Given the description of an element on the screen output the (x, y) to click on. 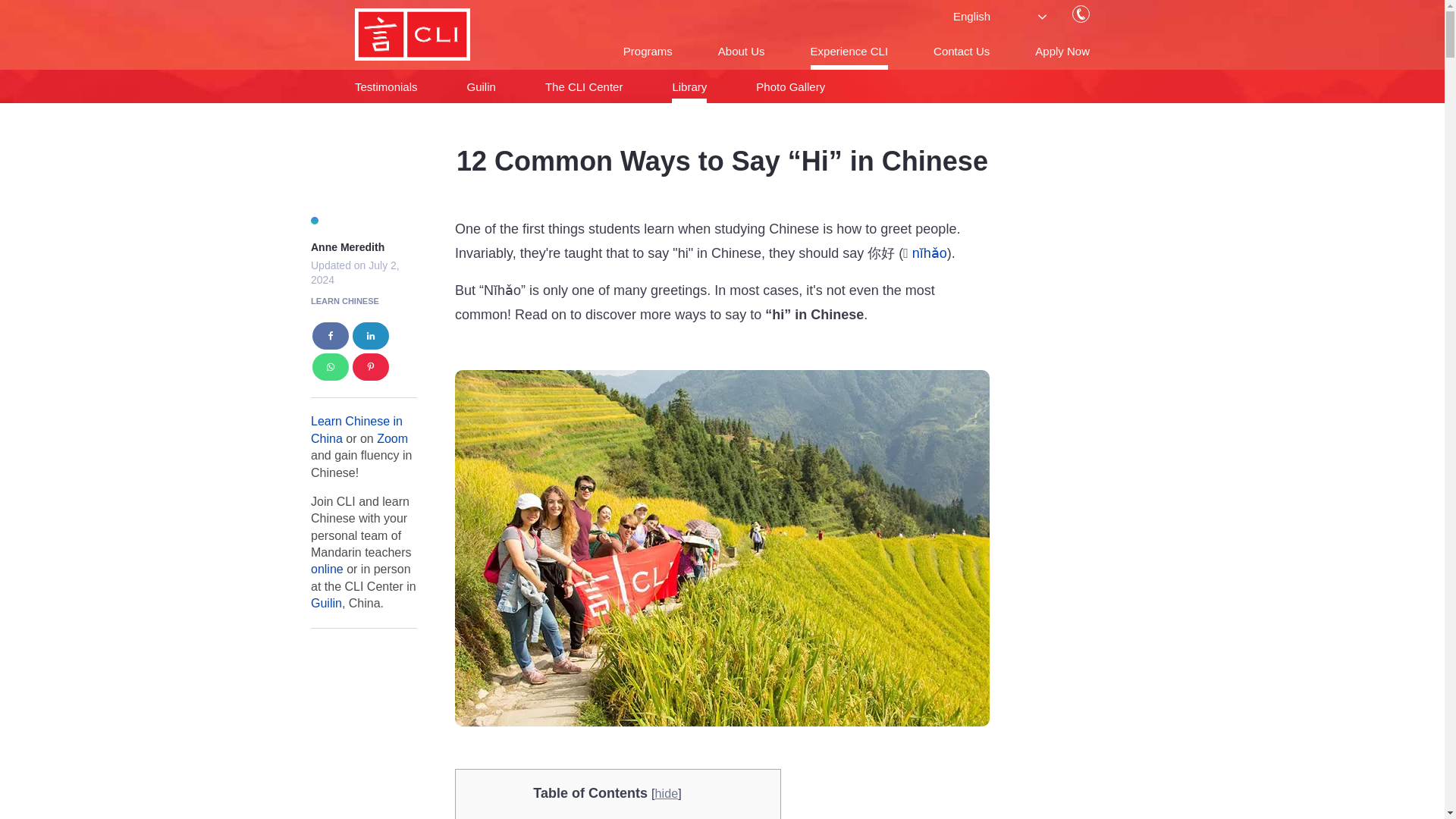
Programs (647, 50)
Apply Now (1062, 50)
Contact Us (961, 50)
The CLI Center (583, 86)
Testimonials (386, 86)
English (1013, 15)
Library (688, 86)
Photo Gallery (790, 86)
About Us (741, 50)
Experience CLI (849, 50)
